Given the description of an element on the screen output the (x, y) to click on. 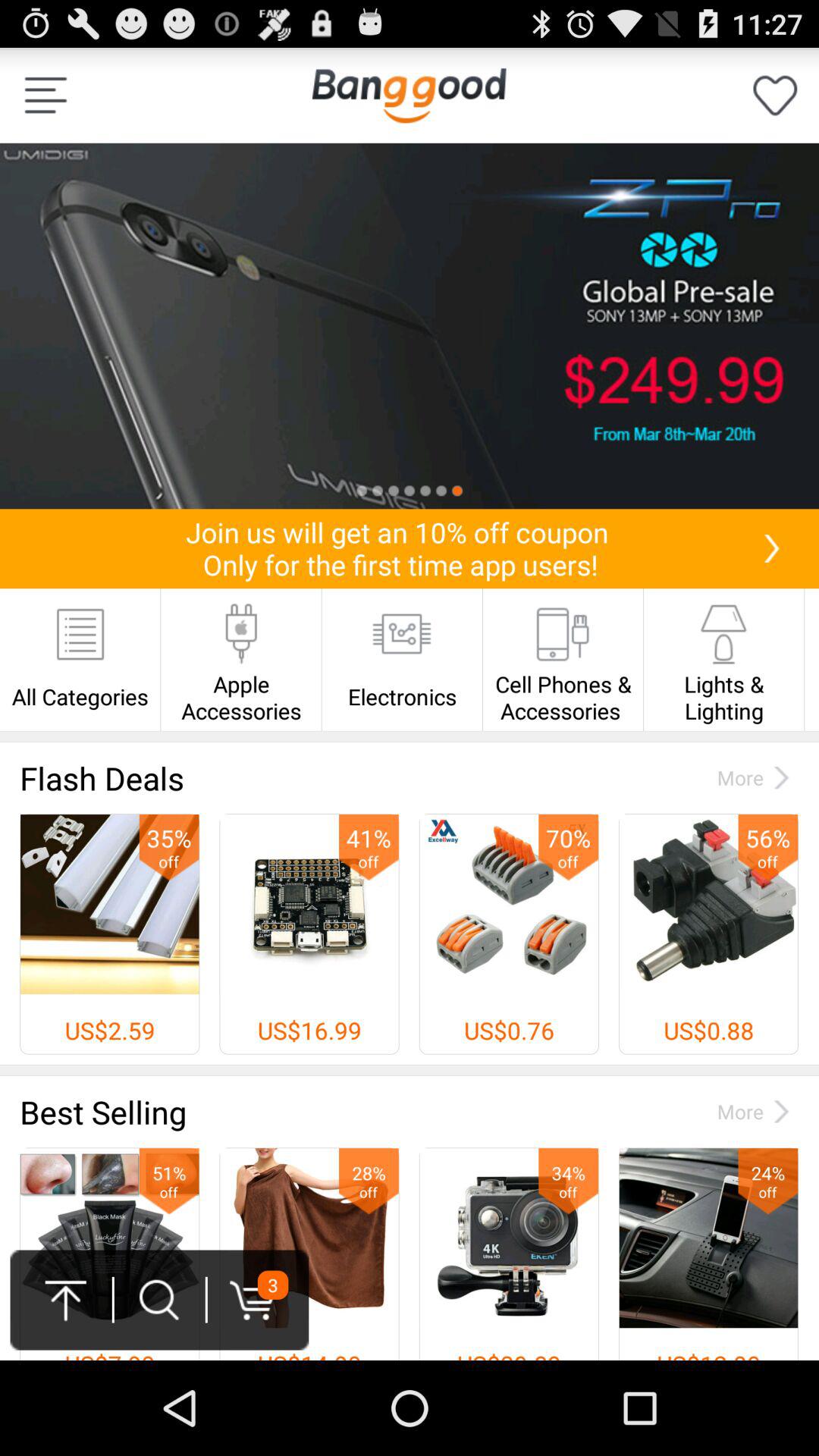
option (45, 95)
